Given the description of an element on the screen output the (x, y) to click on. 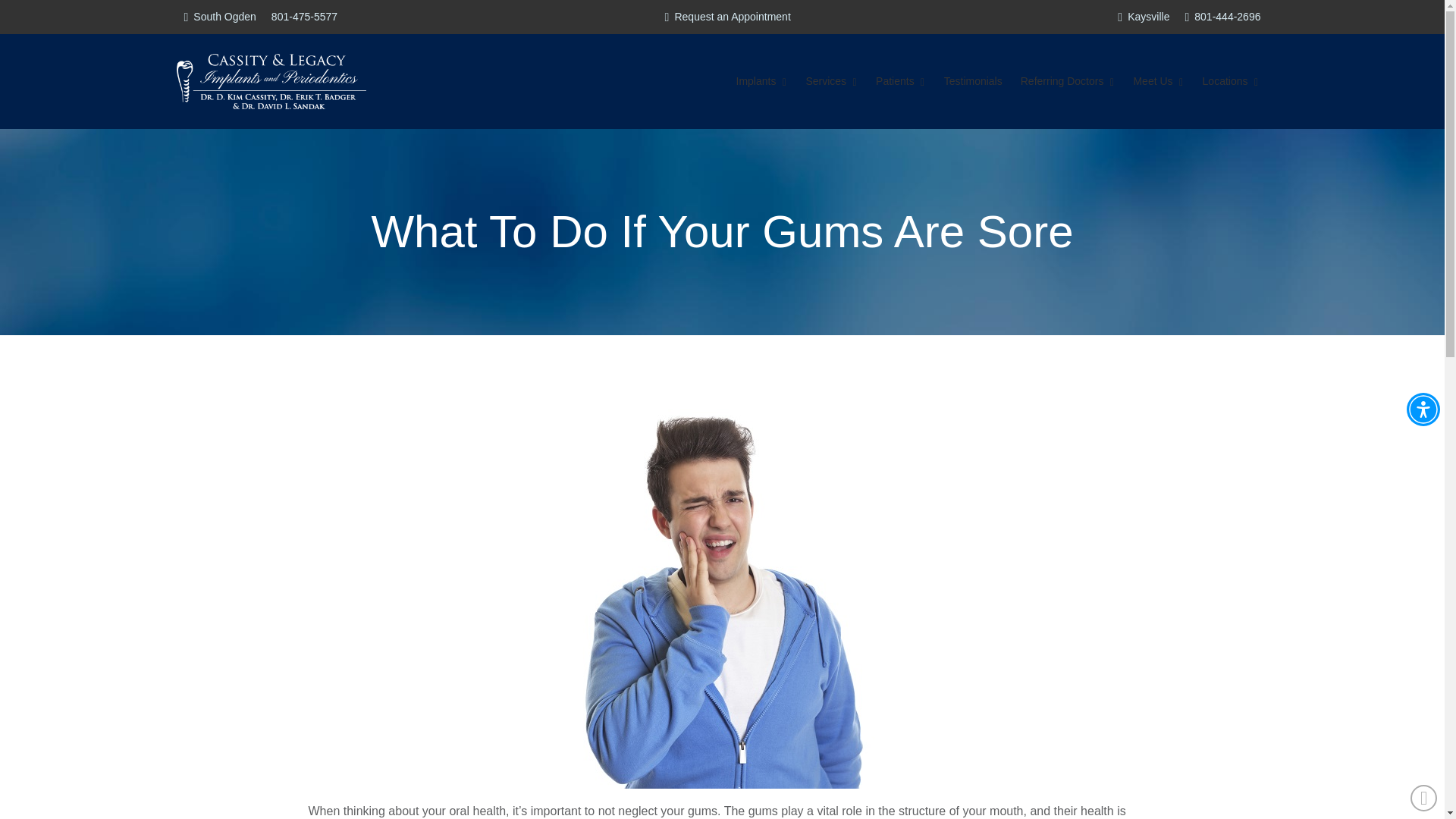
Referring Doctors (1067, 81)
801-444-2696 (1222, 17)
Testimonials (972, 81)
South Ogden (219, 17)
Services (831, 81)
Back to Top (1423, 797)
Patients (900, 81)
Request an Appointment (727, 17)
Kaysville (1143, 17)
801-475-5577 (303, 17)
Implants (761, 81)
Accessibility Menu (1422, 409)
